Given the description of an element on the screen output the (x, y) to click on. 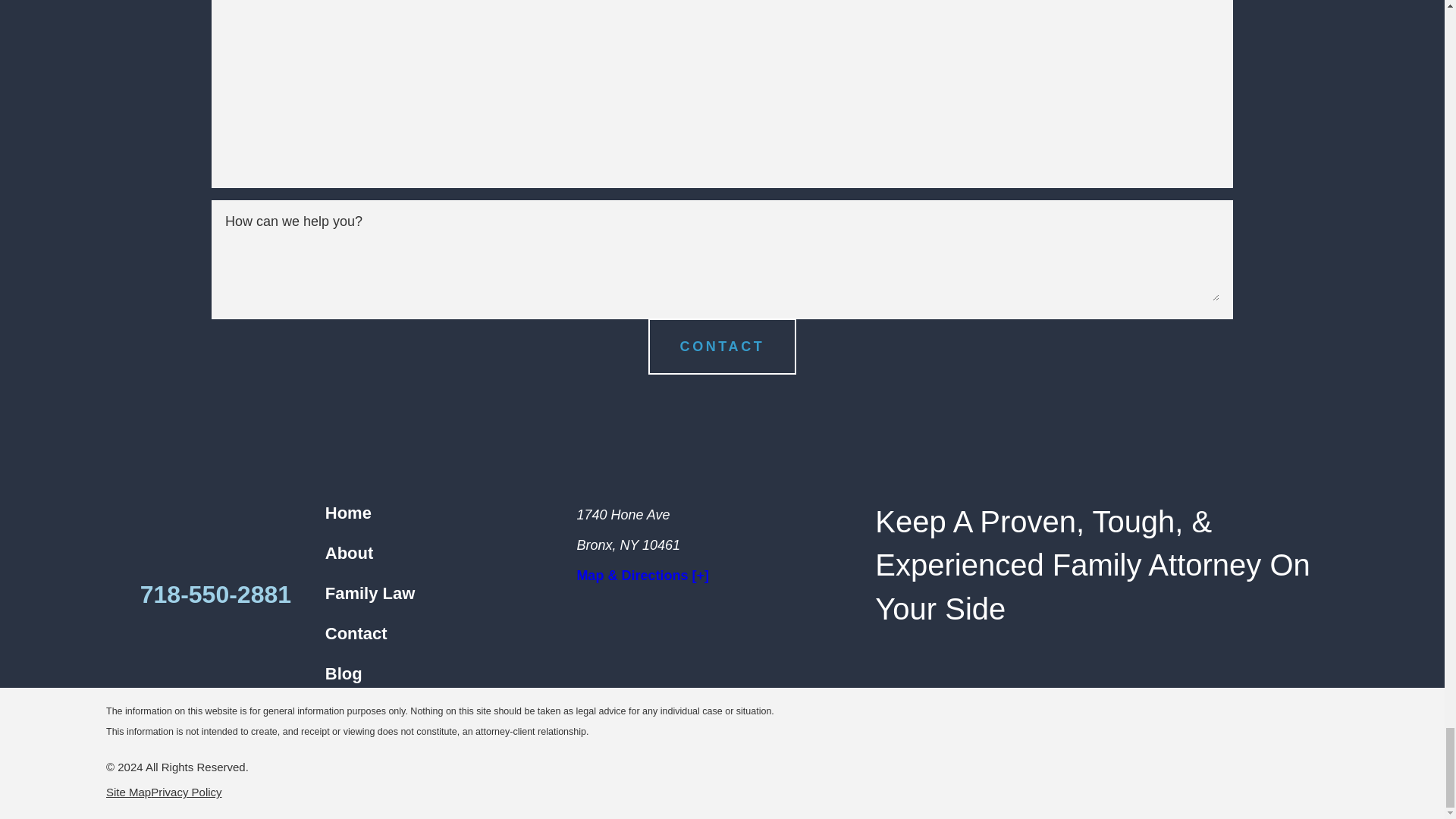
CONTACT (721, 346)
718-550-2881 (215, 594)
